Given the description of an element on the screen output the (x, y) to click on. 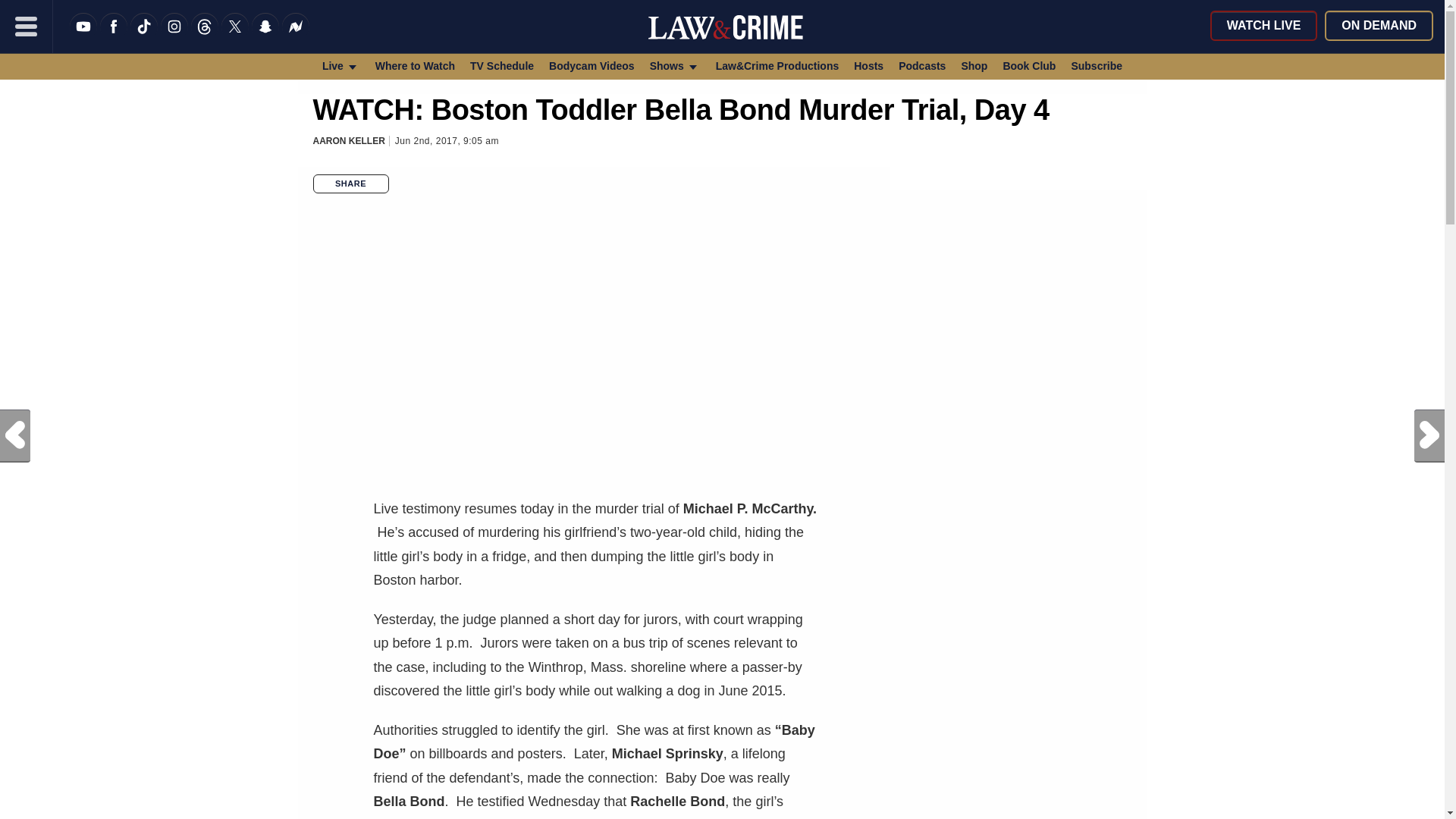
Like us on Facebook (114, 35)
Posts by Aaron Keller (348, 140)
YouTube (83, 35)
News Break (295, 35)
TikTok (144, 35)
Snapchat (265, 35)
Threads (204, 35)
Instagram (173, 35)
